Given the description of an element on the screen output the (x, y) to click on. 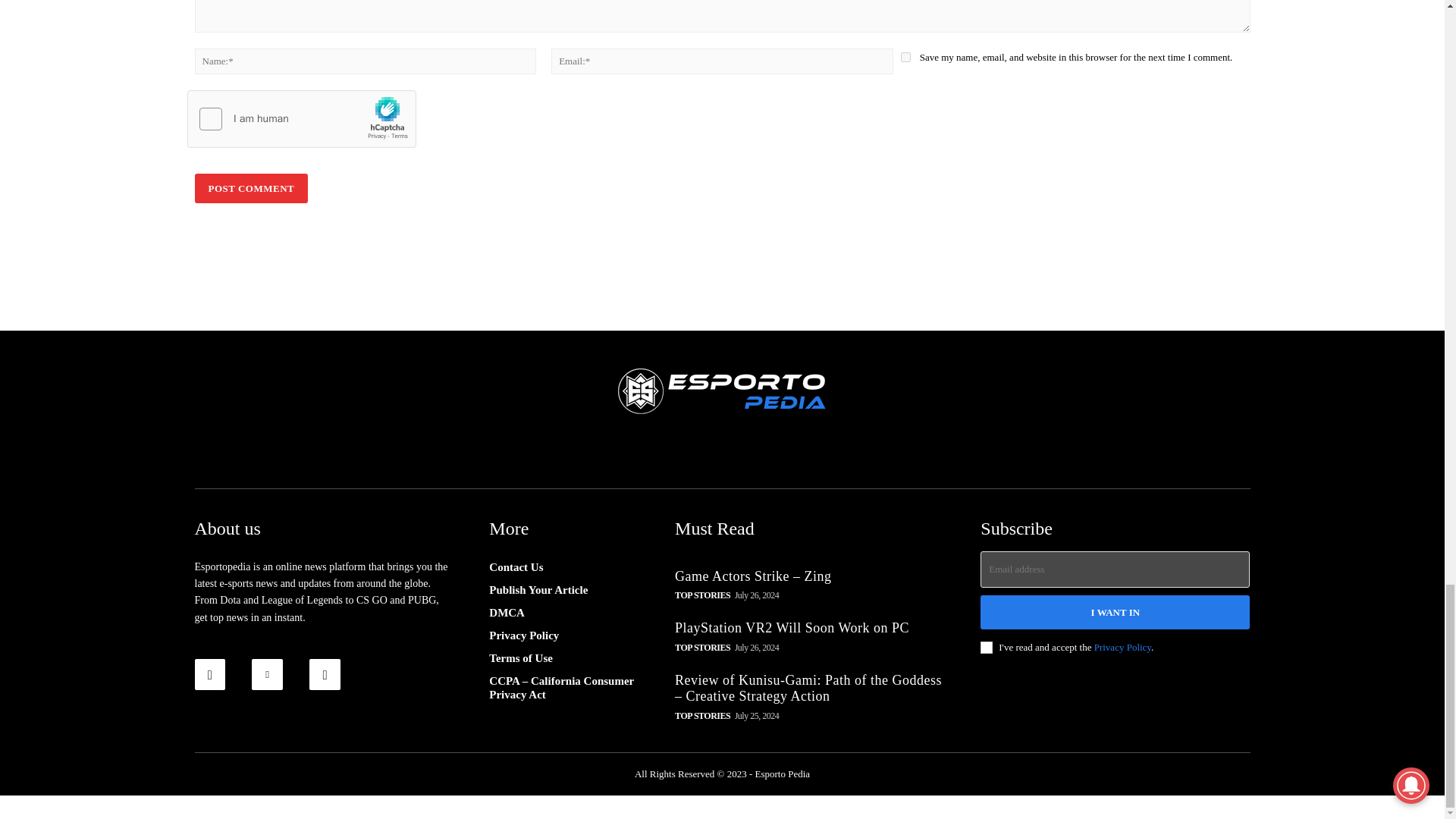
Post Comment (250, 188)
yes (906, 57)
